Given the description of an element on the screen output the (x, y) to click on. 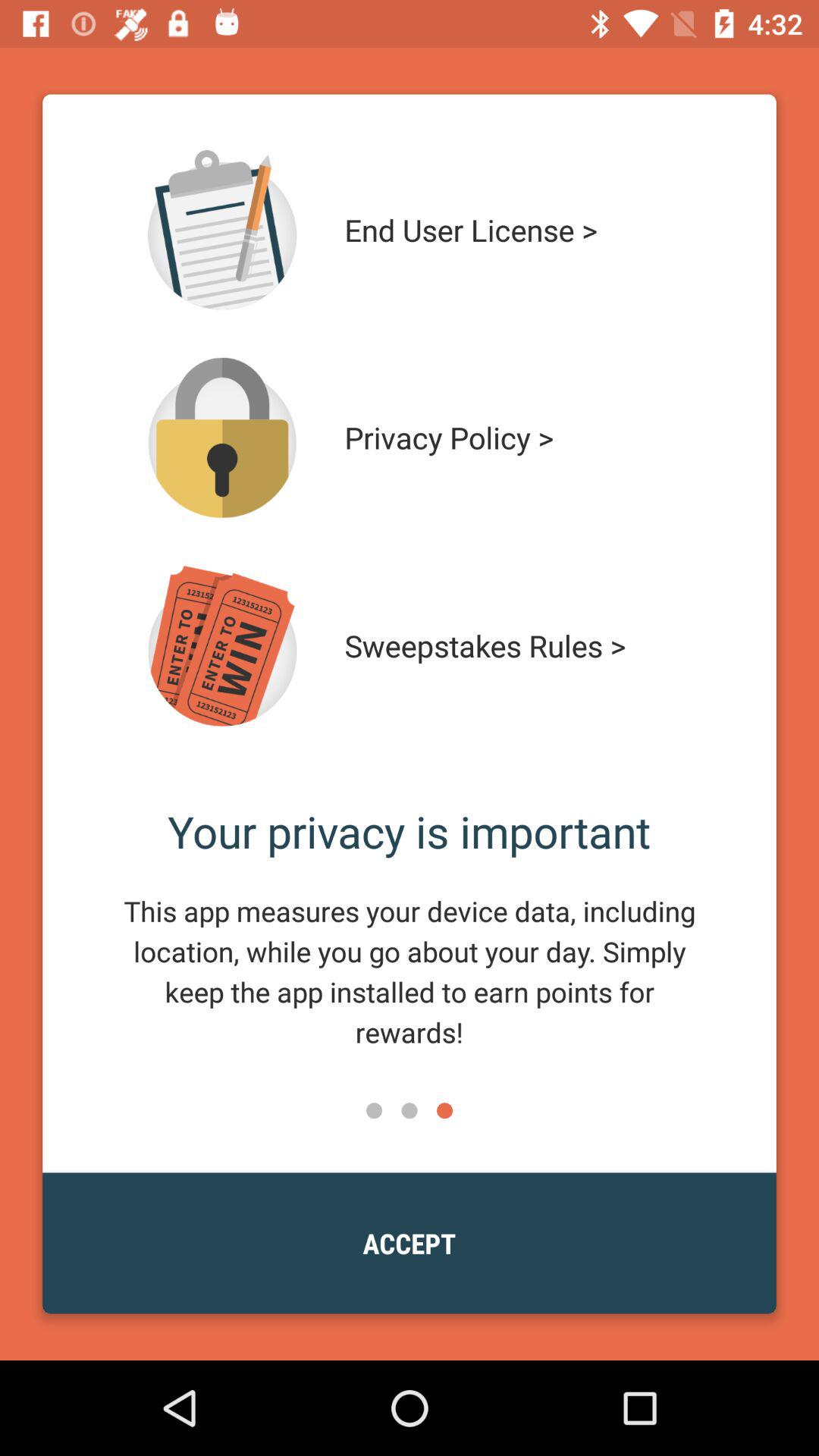
jump until sweepstakes rules > item (514, 646)
